Given the description of an element on the screen output the (x, y) to click on. 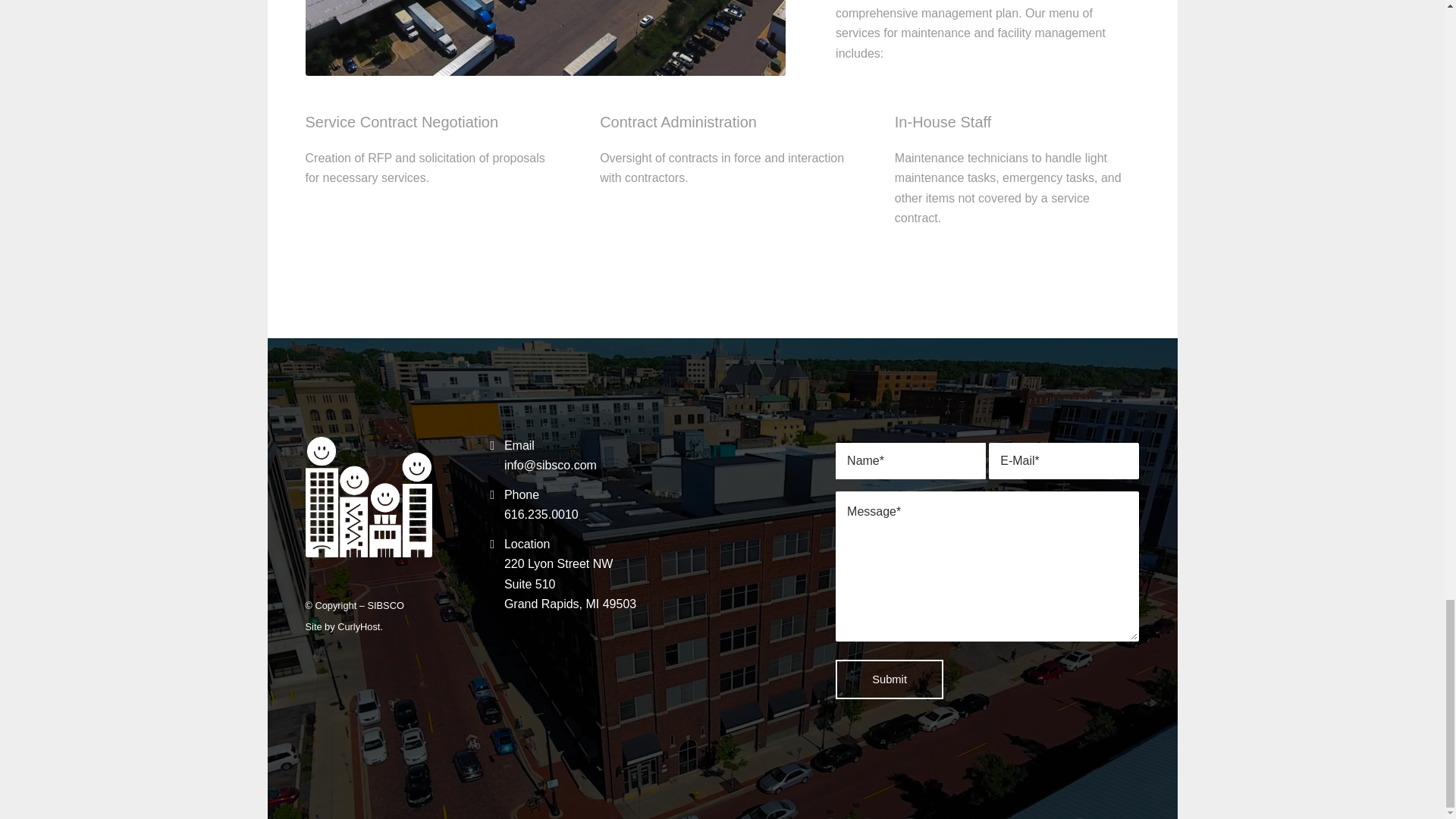
616.235.0010 (540, 513)
Whitelogo-1030x982 (367, 496)
SIBSCO (384, 604)
Site by CurlyHost. (342, 626)
Elston-Richards-845x684 (569, 583)
